Given the description of an element on the screen output the (x, y) to click on. 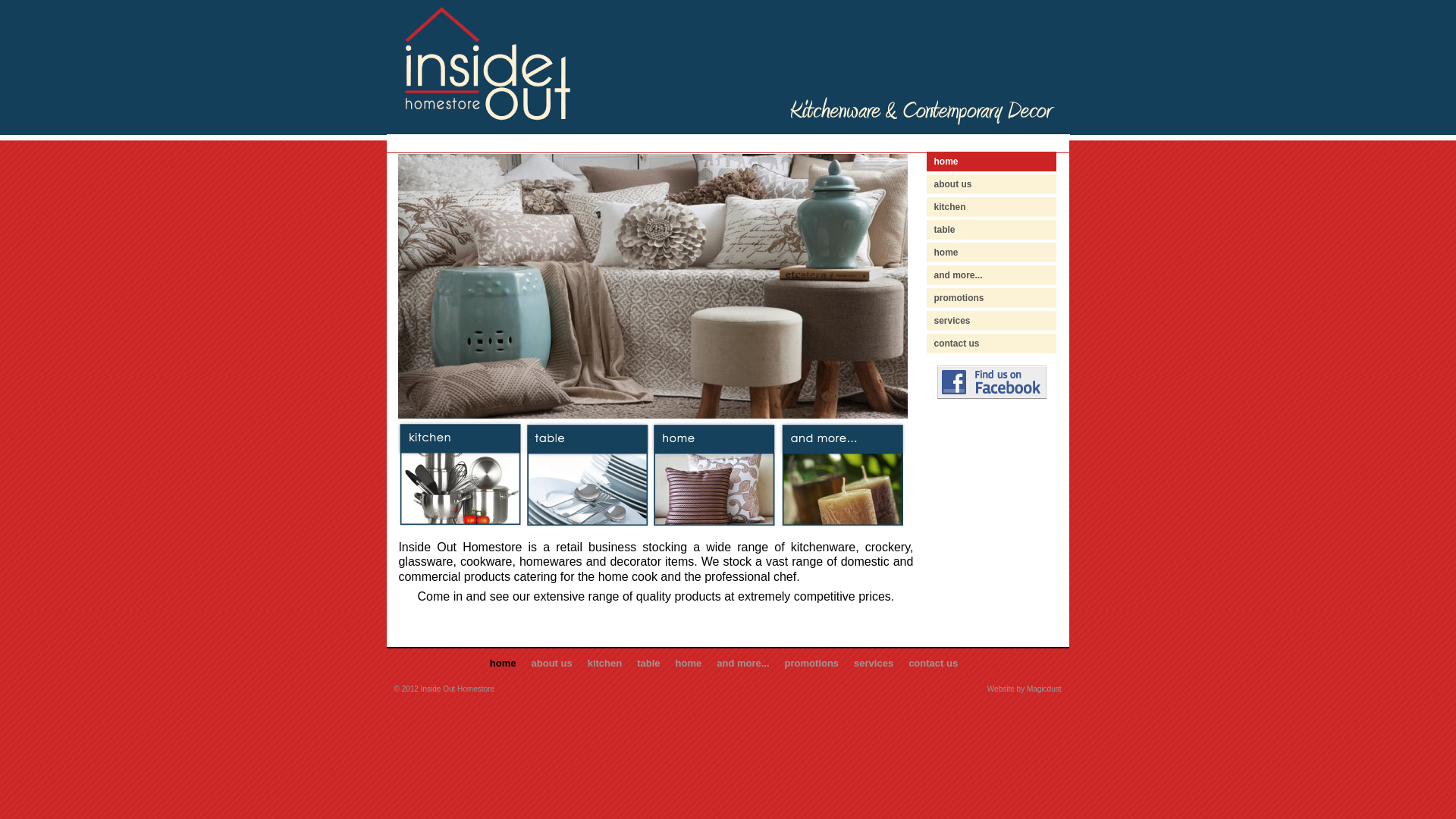
home Element type: text (946, 161)
table Element type: text (944, 229)
home Element type: text (946, 252)
kitchen Element type: text (950, 206)
contact us Element type: text (956, 343)
Magicdust Element type: text (1043, 688)
services Element type: text (873, 662)
services Element type: text (952, 320)
table Element type: text (648, 662)
kitchen Element type: text (604, 662)
and more... Element type: text (742, 662)
home Element type: text (502, 662)
home Element type: text (688, 662)
promotions Element type: text (811, 662)
contact us Element type: text (932, 662)
about us Element type: text (551, 662)
about us Element type: text (953, 183)
and more... Element type: text (958, 274)
promotions Element type: text (959, 297)
